Given the description of an element on the screen output the (x, y) to click on. 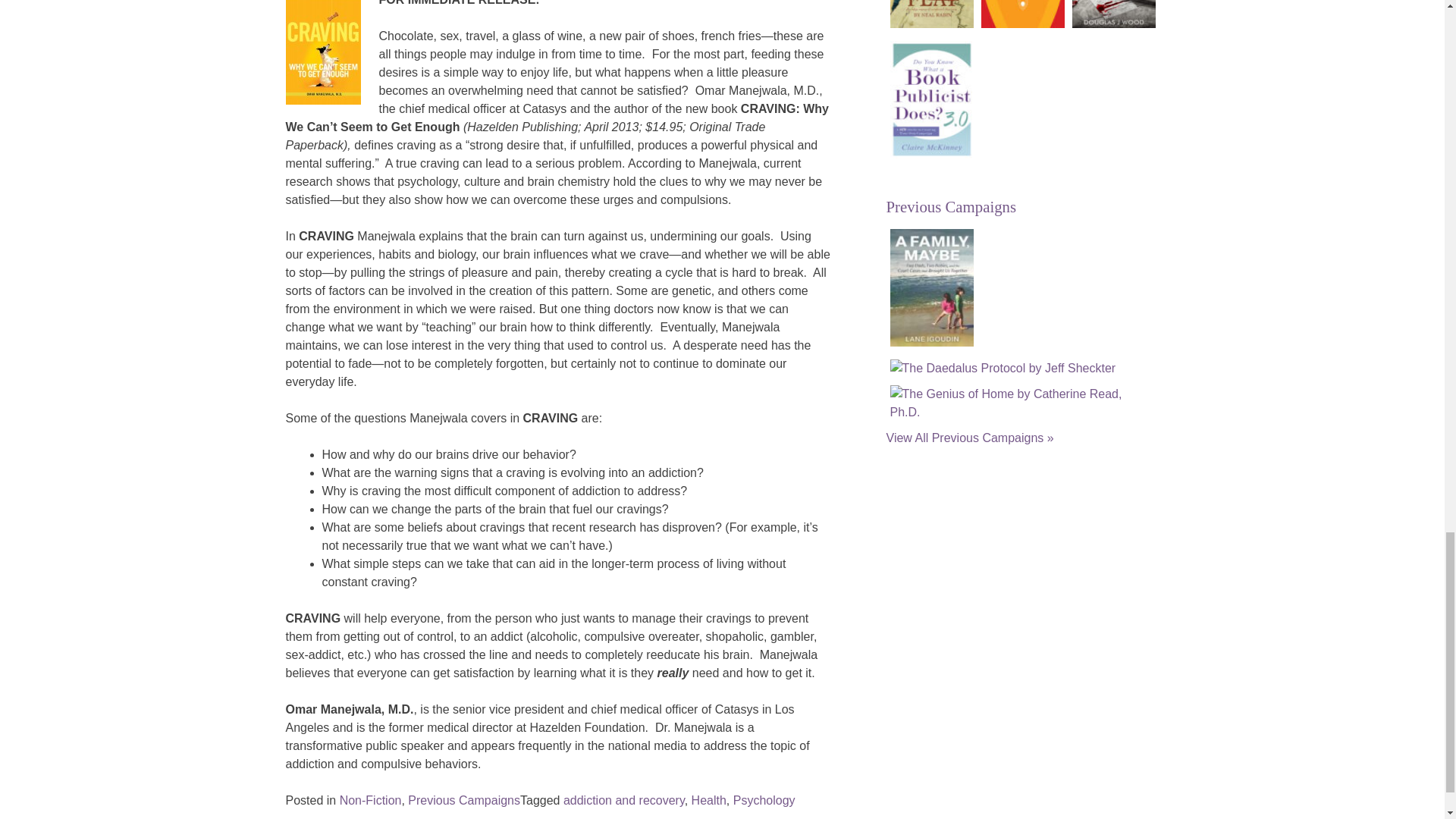
Psychology (763, 799)
Non-Fiction (370, 799)
addiction and recovery (623, 799)
Health (708, 799)
Previous Campaigns (463, 799)
